Given the description of an element on the screen output the (x, y) to click on. 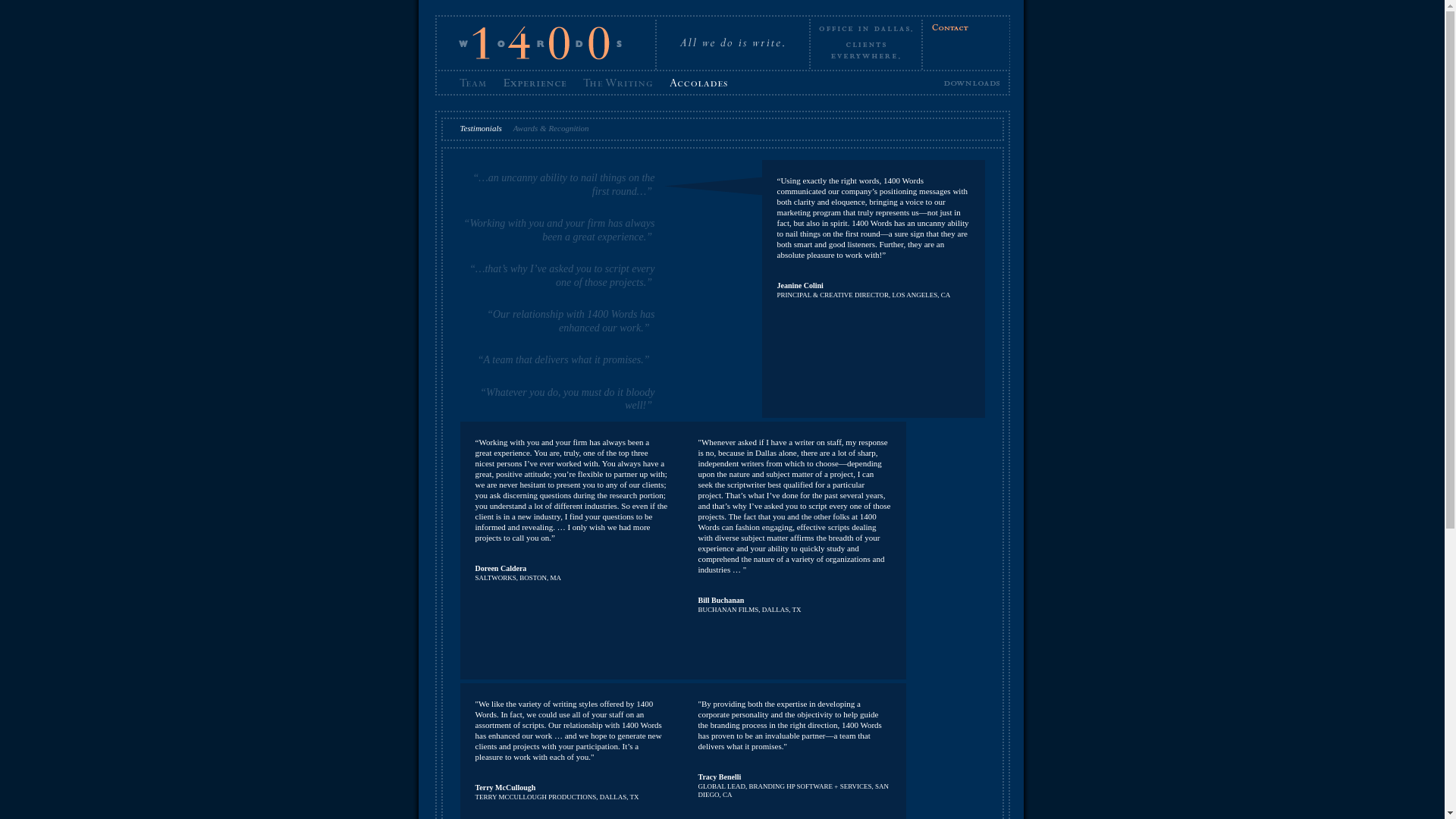
Testimonials Element type: text (480, 127)
Awards & Recognition Element type: text (551, 127)
